Given the description of an element on the screen output the (x, y) to click on. 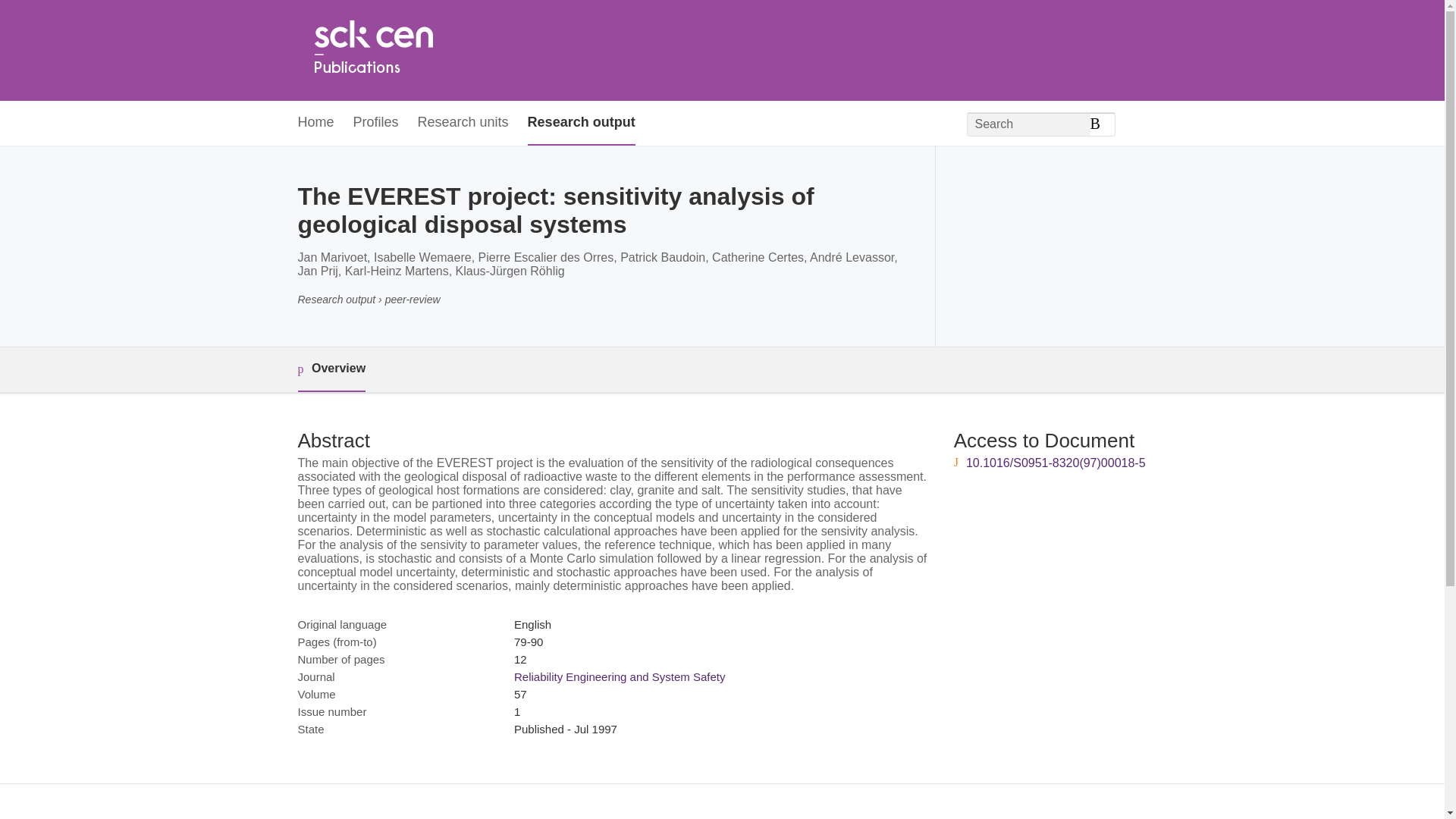
Profiles (375, 122)
Overview (331, 369)
Research output (580, 122)
Home (372, 50)
Reliability Engineering and System Safety (619, 676)
Research units (462, 122)
